Given the description of an element on the screen output the (x, y) to click on. 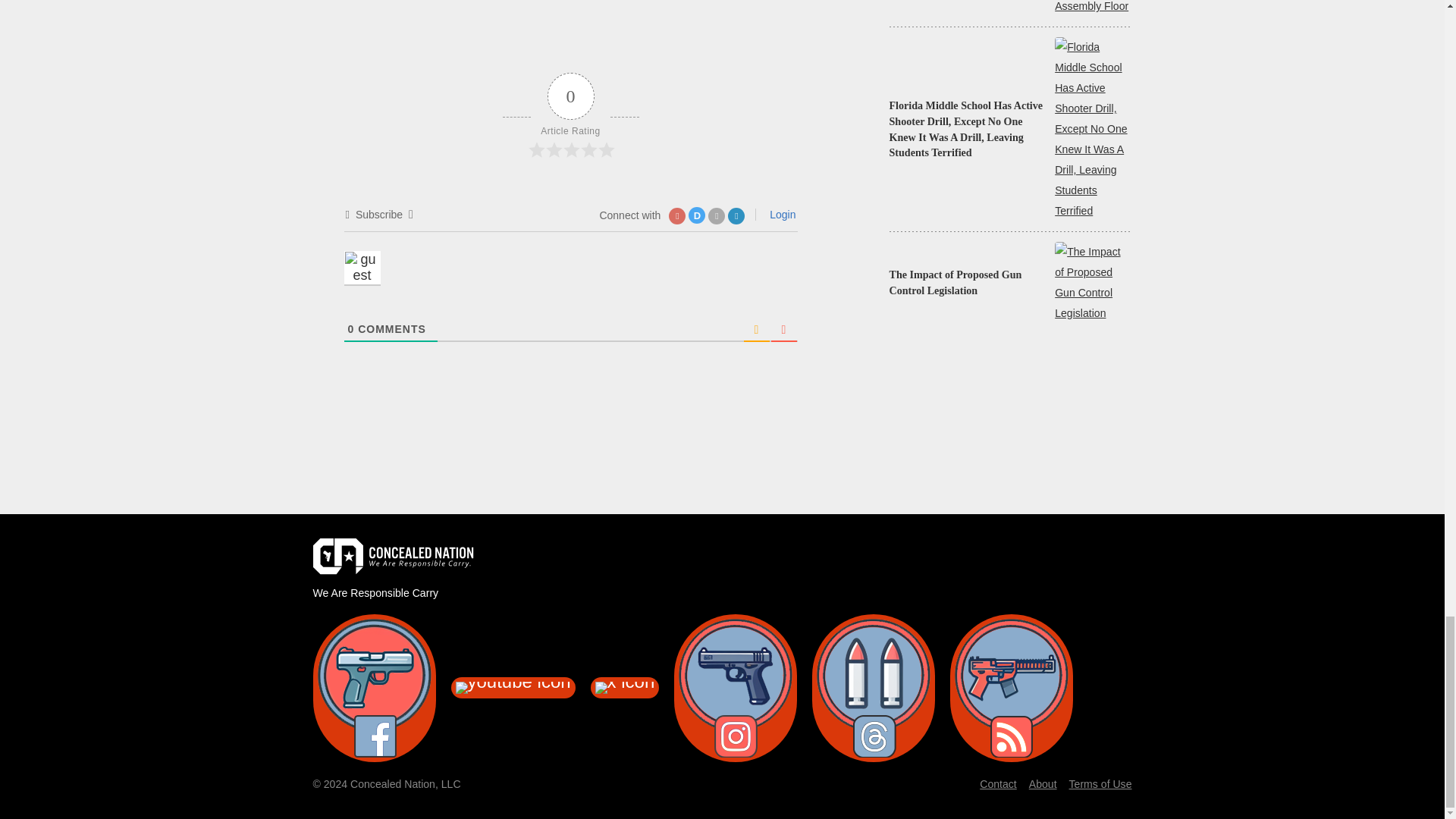
Login (779, 214)
